Given the description of an element on the screen output the (x, y) to click on. 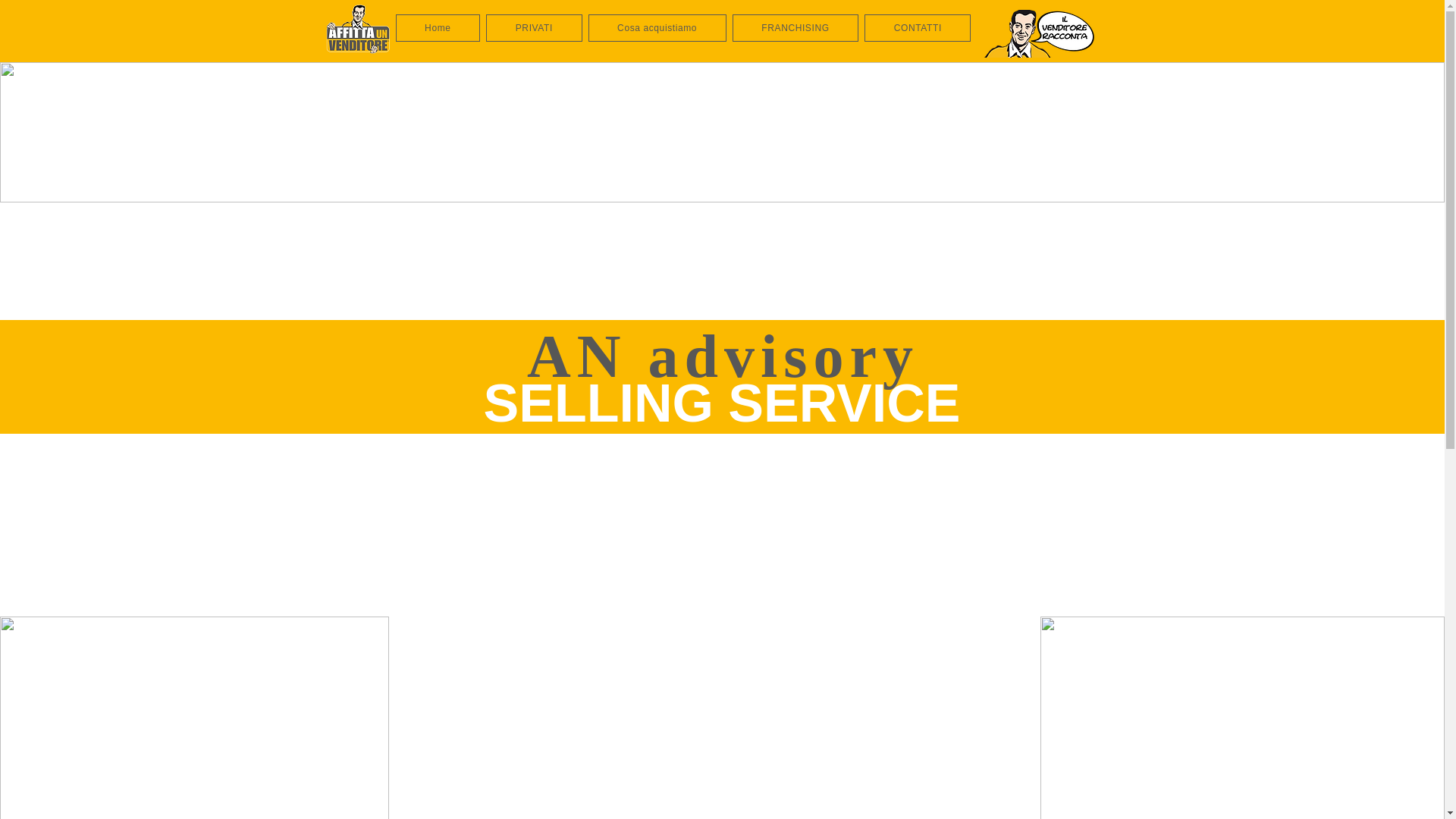
FRANCHISING (795, 27)
PRIVATI (533, 27)
Home (438, 27)
CONTATTI (917, 27)
